Given the description of an element on the screen output the (x, y) to click on. 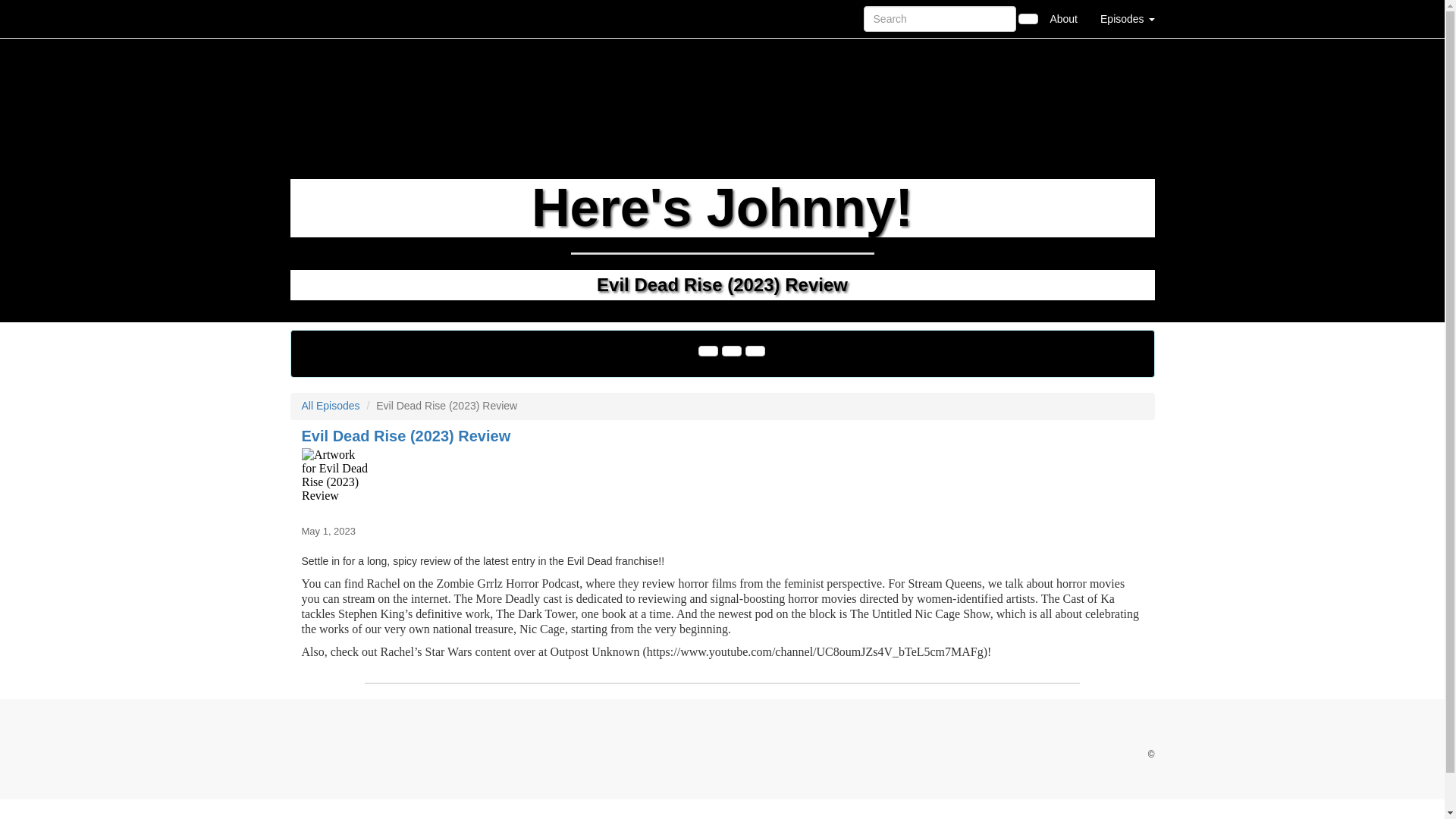
Episodes (1127, 18)
Home Page (320, 18)
About (1063, 18)
